Given the description of an element on the screen output the (x, y) to click on. 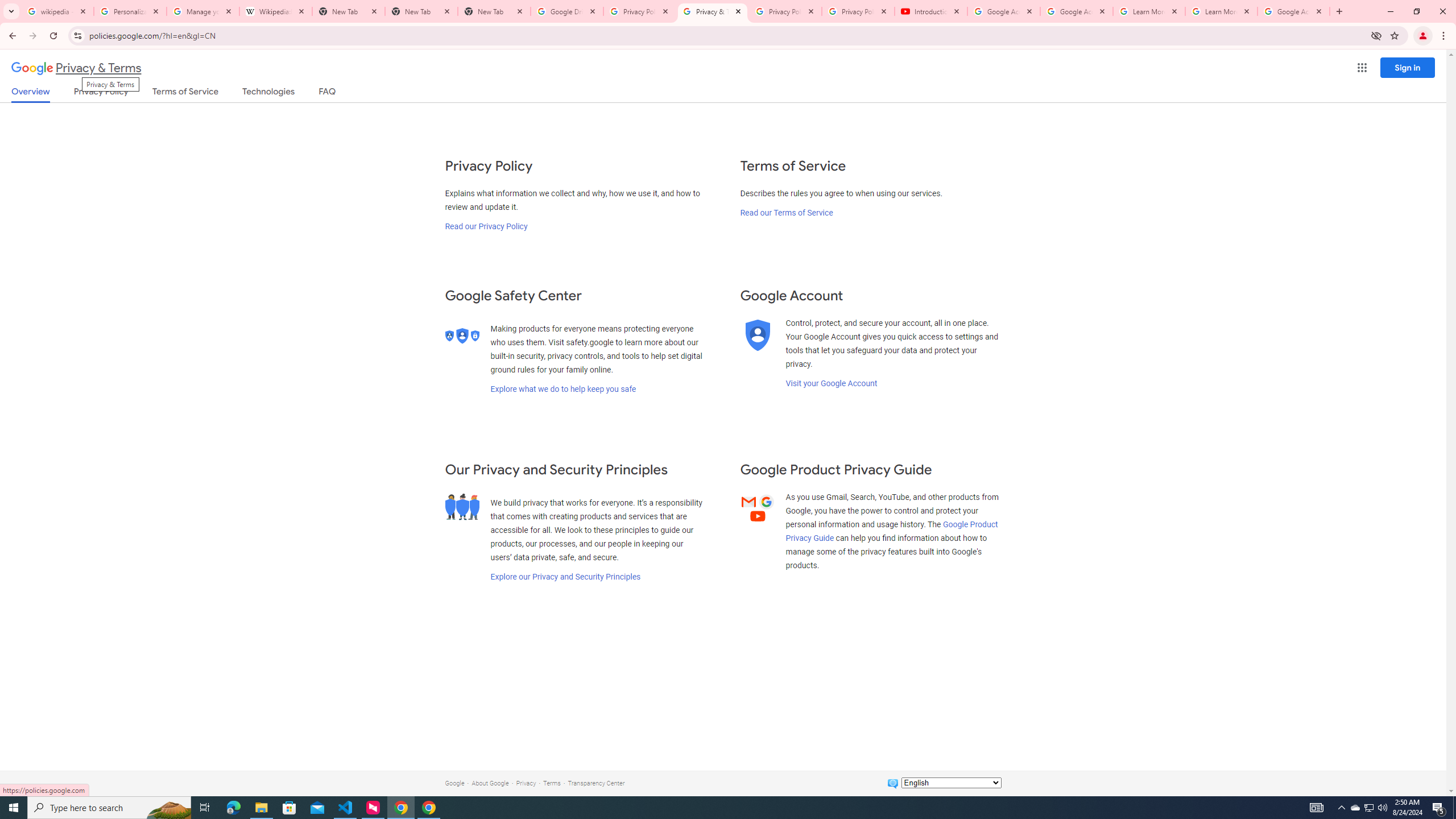
Transparency Center (595, 783)
Introduction | Google Privacy Policy - YouTube (930, 11)
Change language: (951, 782)
